Given the description of an element on the screen output the (x, y) to click on. 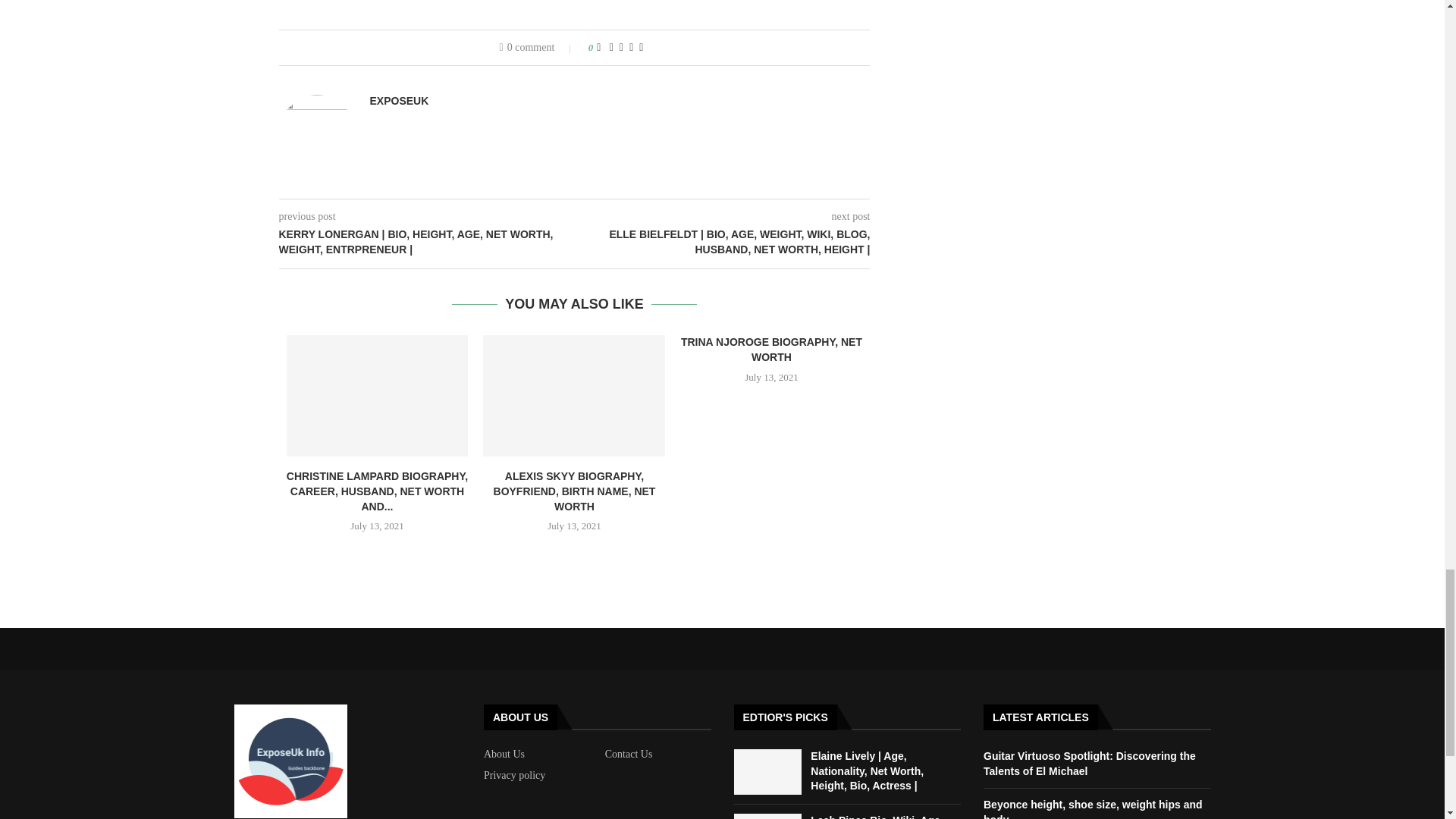
Alexis Skyy Biography, Boyfriend, Birth Name, Net Worth (574, 395)
Author Exposeuk (399, 101)
